Given the description of an element on the screen output the (x, y) to click on. 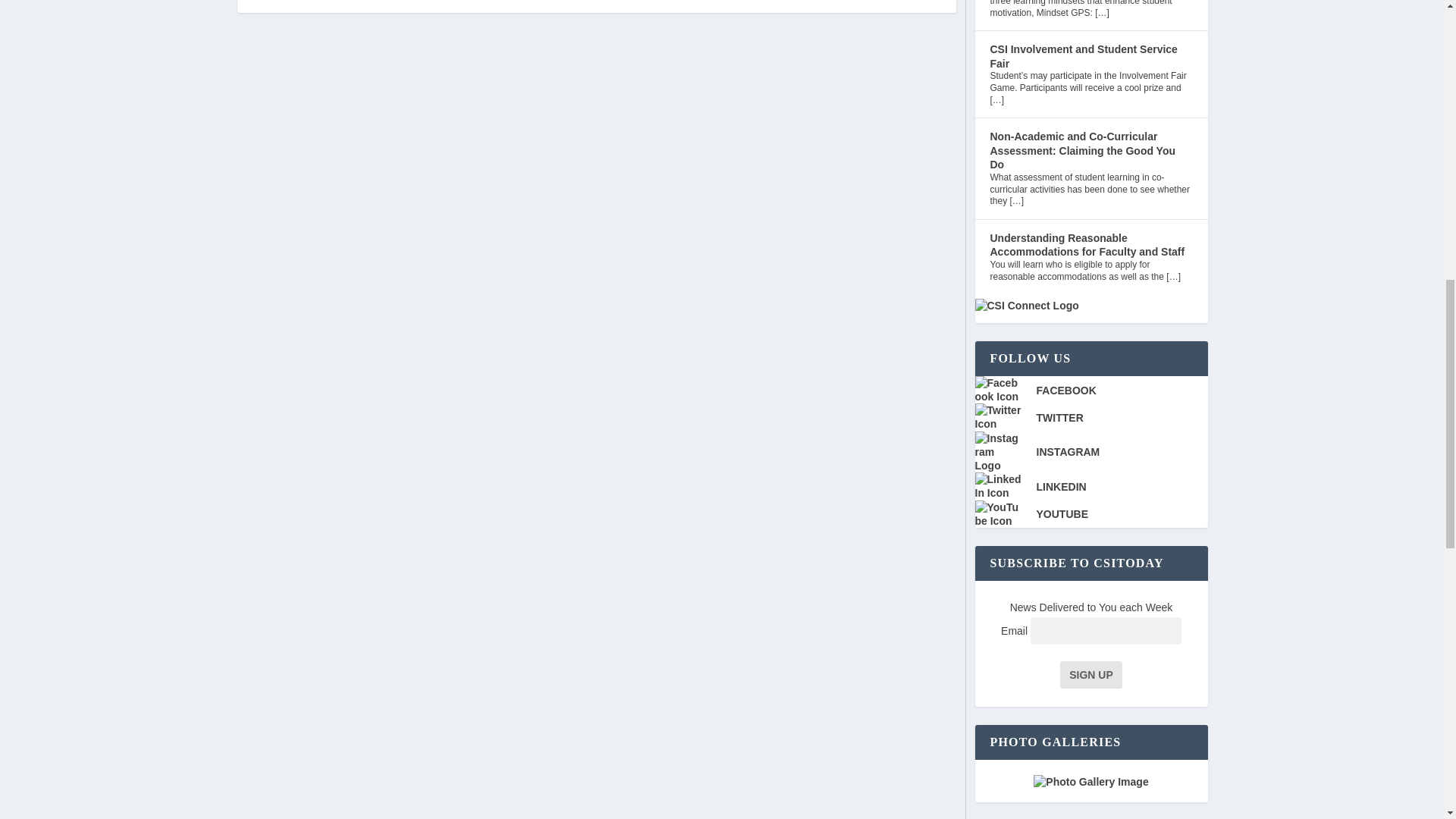
Sign up (1090, 674)
